Given the description of an element on the screen output the (x, y) to click on. 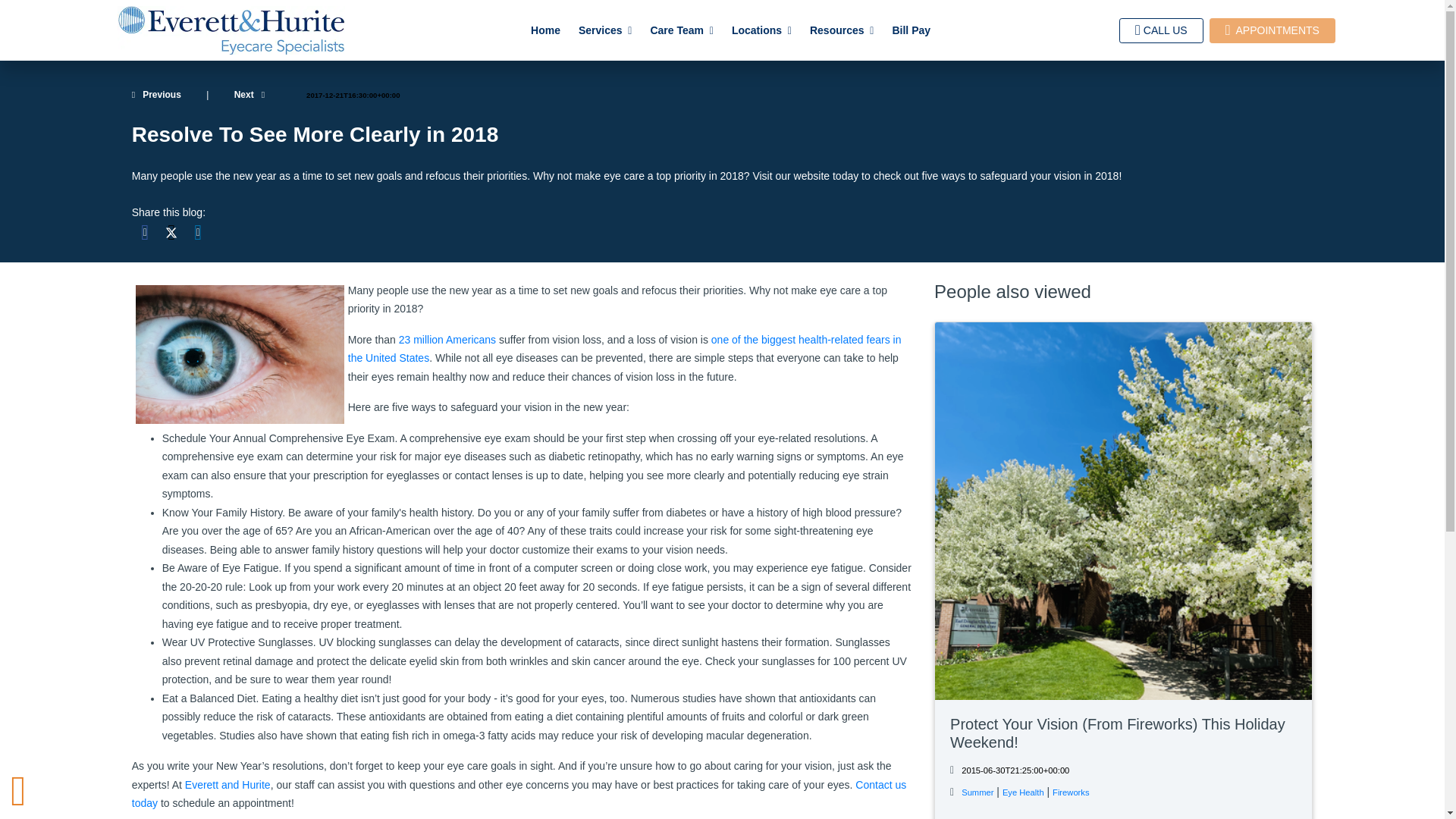
Care Team   (681, 30)
Services   (605, 30)
Home (545, 30)
